Given the description of an element on the screen output the (x, y) to click on. 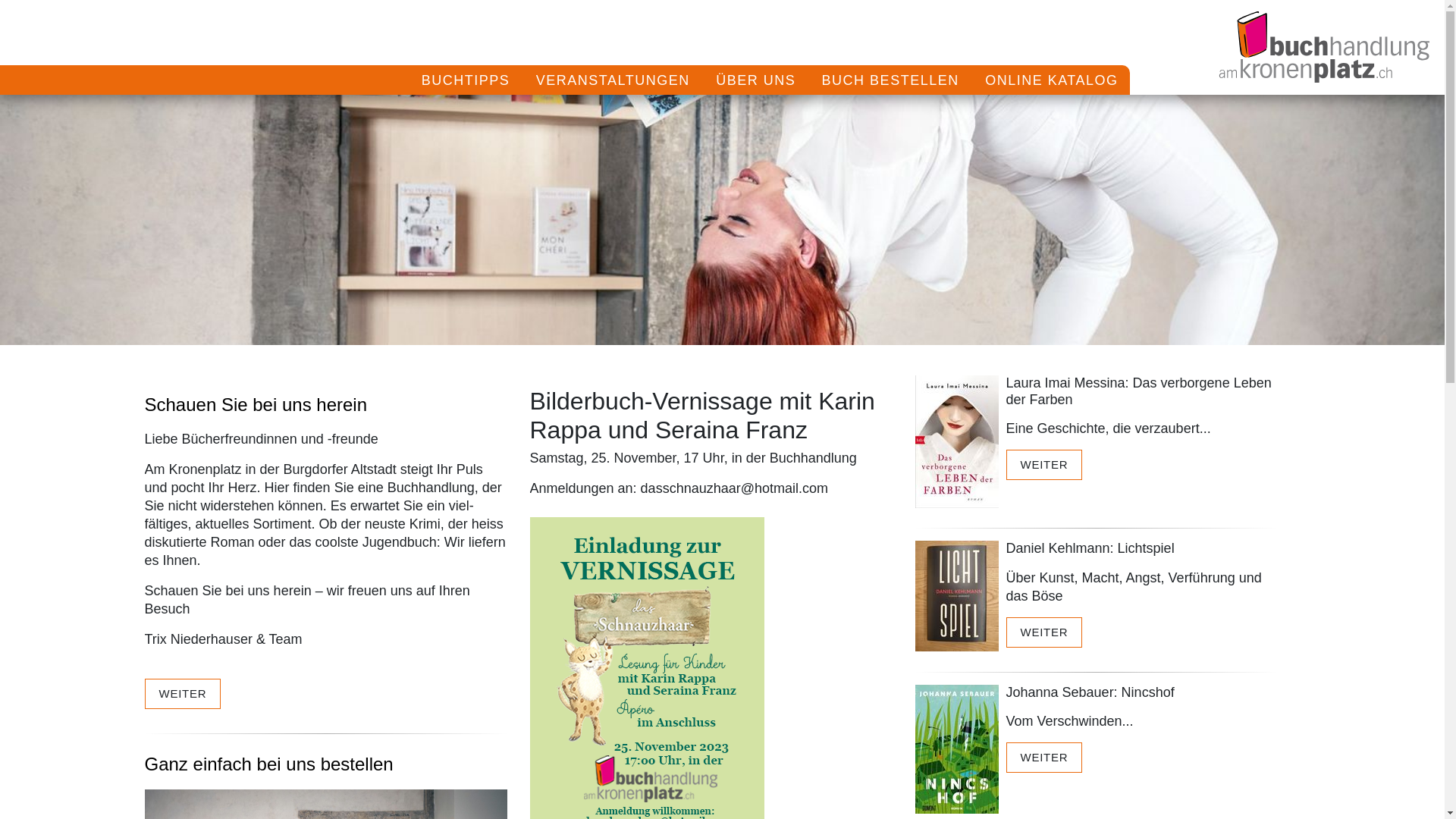
BUCH BESTELLEN Element type: text (890, 79)
ONLINE KATALOG Element type: text (1051, 79)
WEITER Element type: text (1043, 757)
BUCHTIPPS Element type: text (465, 79)
WEITER Element type: text (182, 693)
VERANSTALTUNGEN Element type: text (612, 79)
WEITER Element type: text (1043, 464)
WEITER Element type: text (1043, 632)
